Given the description of an element on the screen output the (x, y) to click on. 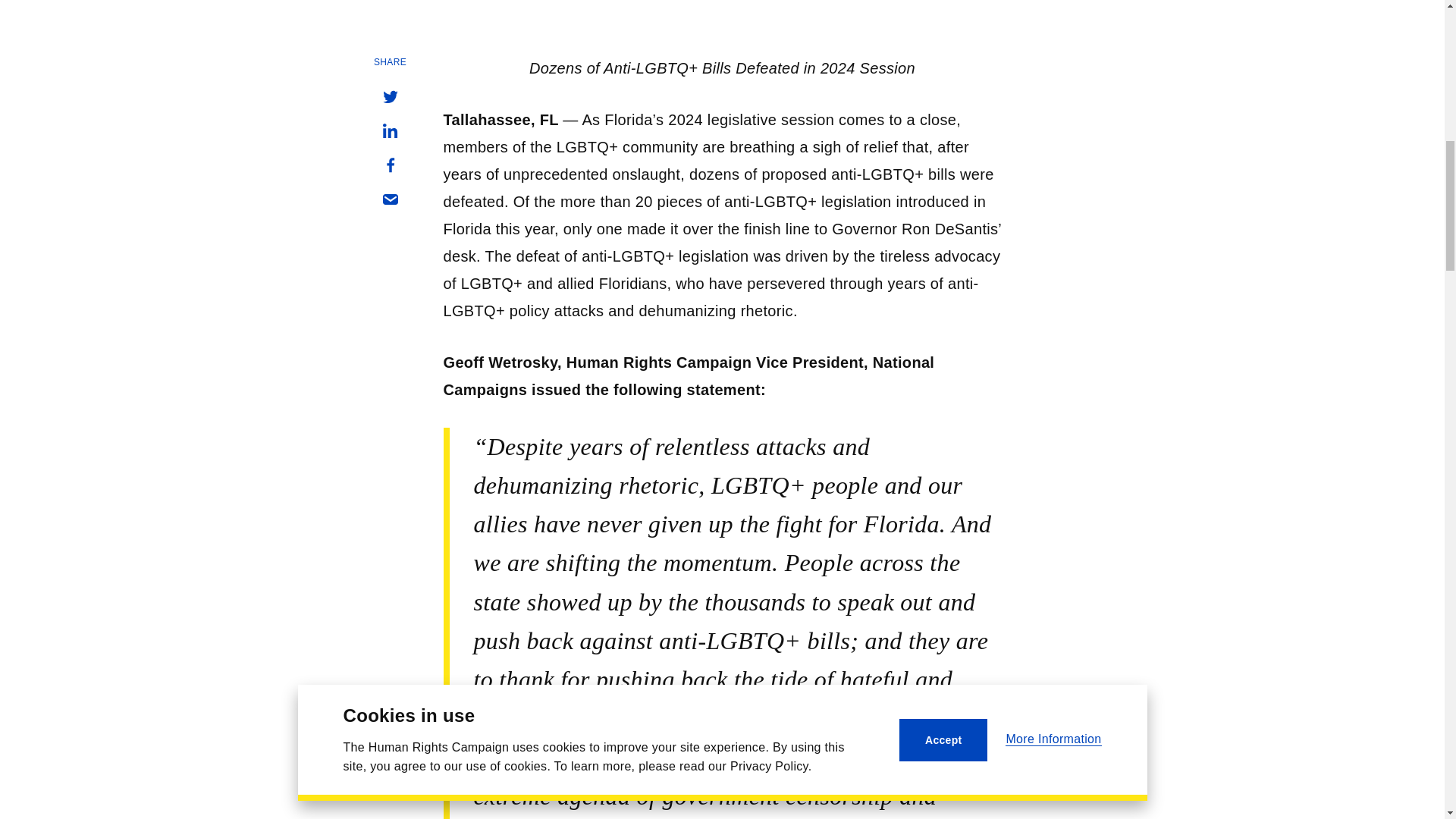
LinkedIn (389, 130)
Twitter (389, 97)
Facebook (389, 165)
Email (389, 198)
